Given the description of an element on the screen output the (x, y) to click on. 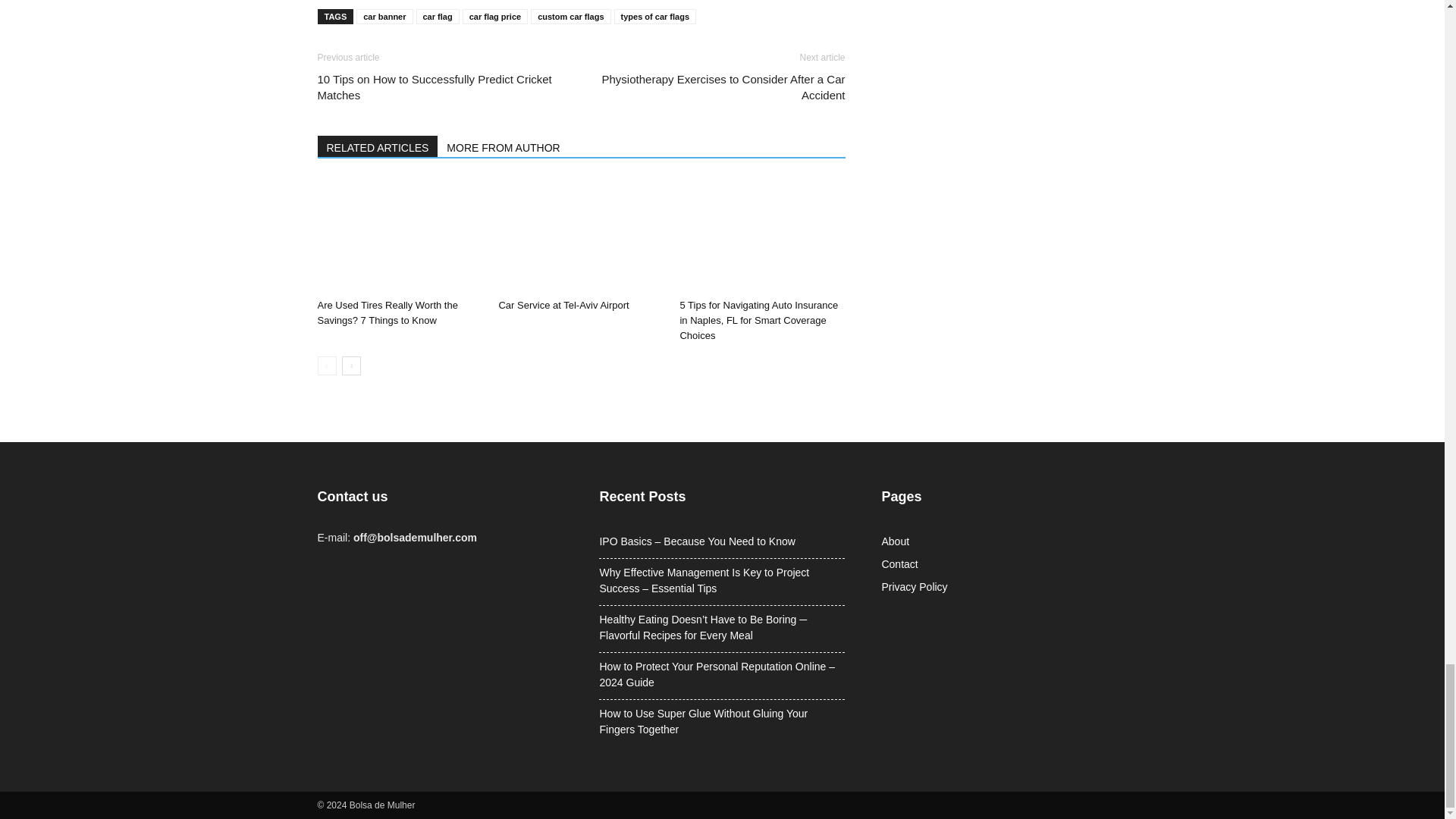
Physiotherapy Exercises to Consider After a Car Accident (721, 87)
Car Service at Tel-Aviv Airport (562, 305)
custom car flags (570, 16)
car flag price (495, 16)
10 Tips on How to Successfully Predict Cricket Matches (439, 87)
Car Service at Tel-Aviv Airport (580, 235)
Are Used Tires Really Worth the Savings? 7 Things to Know (399, 235)
types of car flags (654, 16)
car banner (384, 16)
